Given the description of an element on the screen output the (x, y) to click on. 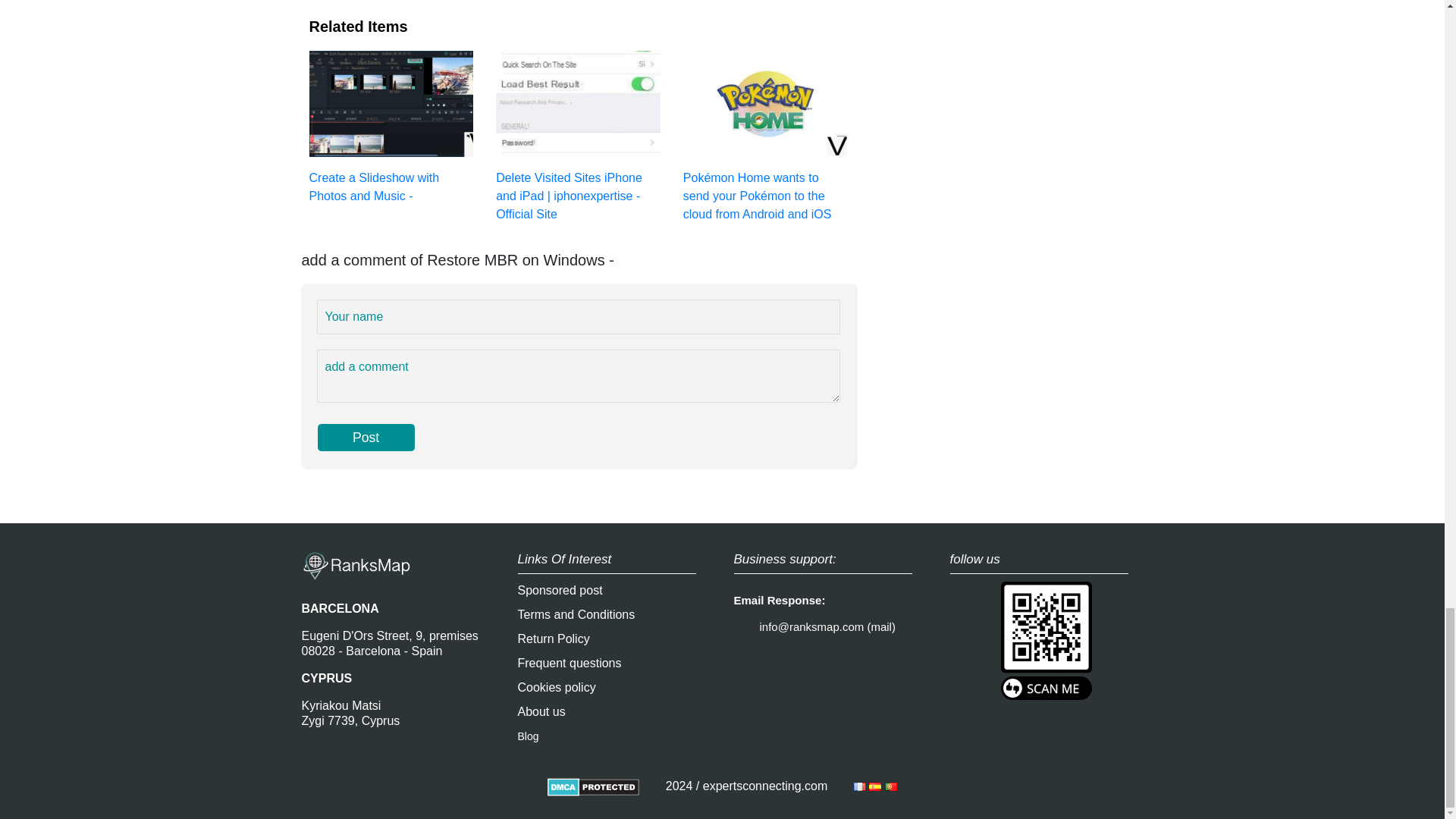
Post (365, 437)
Create a Slideshow with Photos and Music - (391, 126)
Blog (527, 736)
Create a Slideshow with Photos and Music - (391, 126)
